Given the description of an element on the screen output the (x, y) to click on. 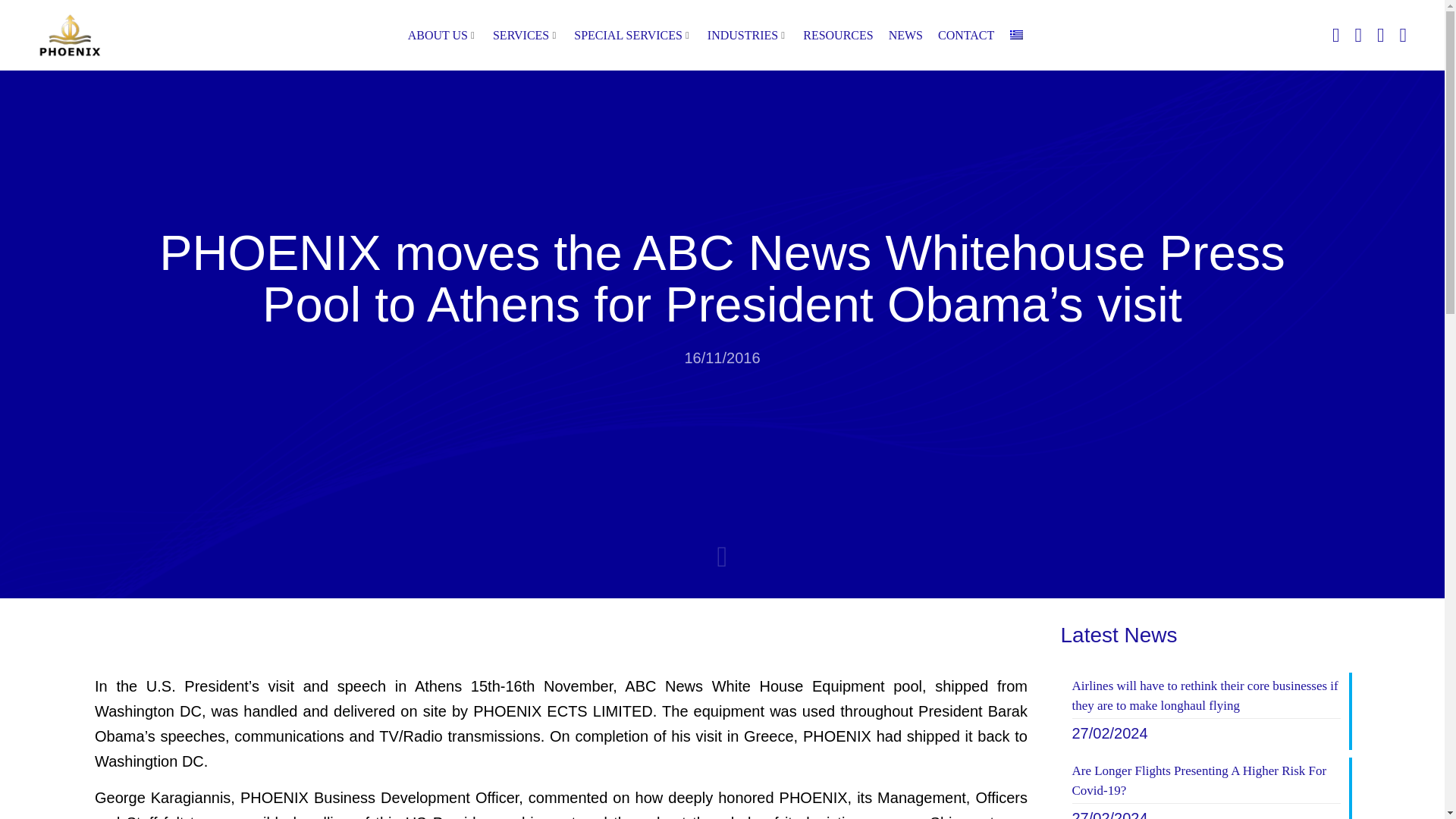
ABOUT US (442, 34)
INDUSTRIES (747, 34)
RESOURCES (837, 34)
CONTACT (965, 34)
SERVICES (526, 34)
SPECIAL SERVICES (633, 34)
